Given the description of an element on the screen output the (x, y) to click on. 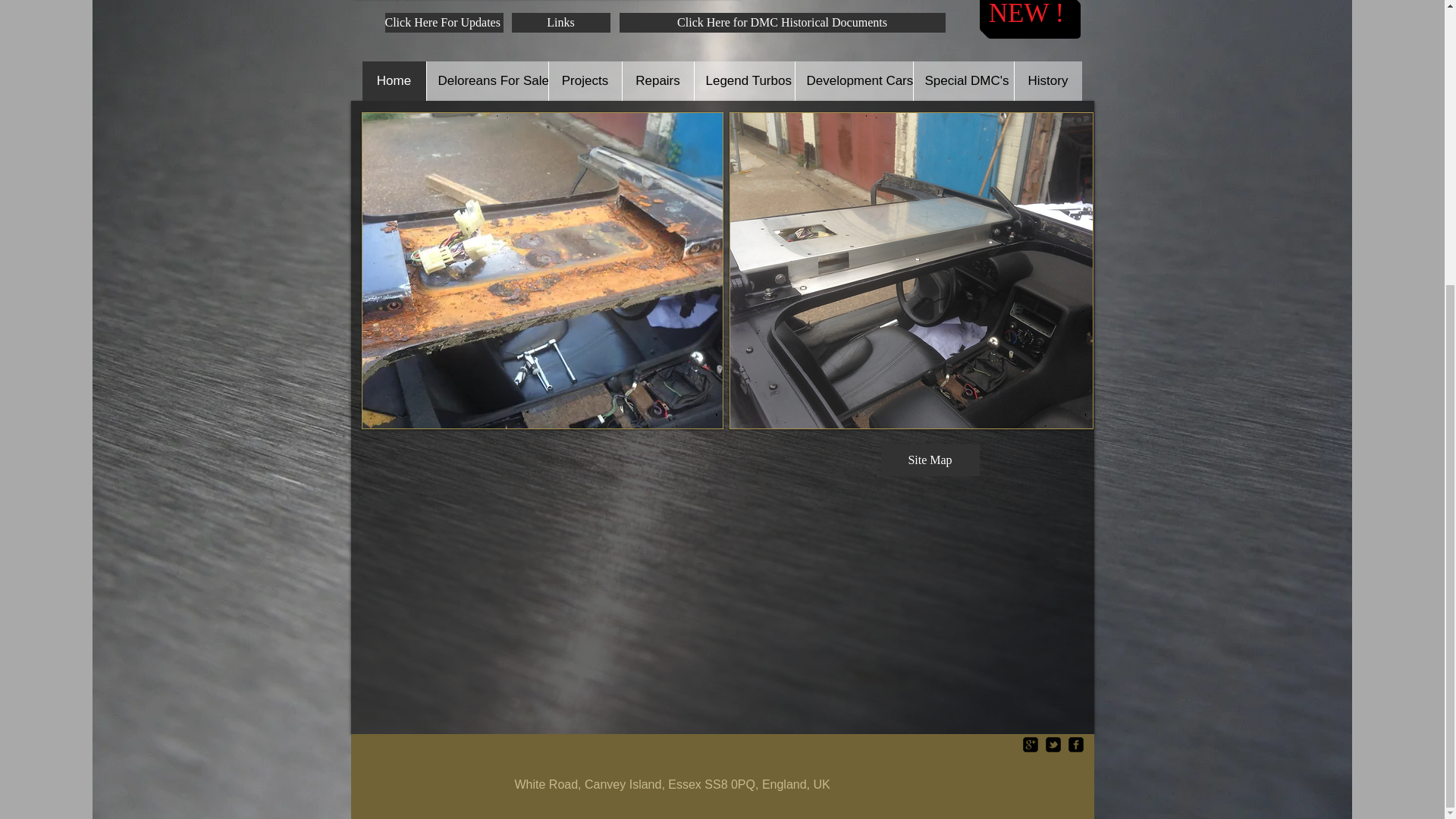
Home (394, 80)
NEW ! (1026, 15)
Legend Turbos (743, 80)
Click Here for DMC Historical Documents (781, 22)
Click Here For Updates (444, 22)
Deloreans For Sale (487, 80)
Repairs (657, 80)
Projects (584, 80)
Links (560, 22)
